Given the description of an element on the screen output the (x, y) to click on. 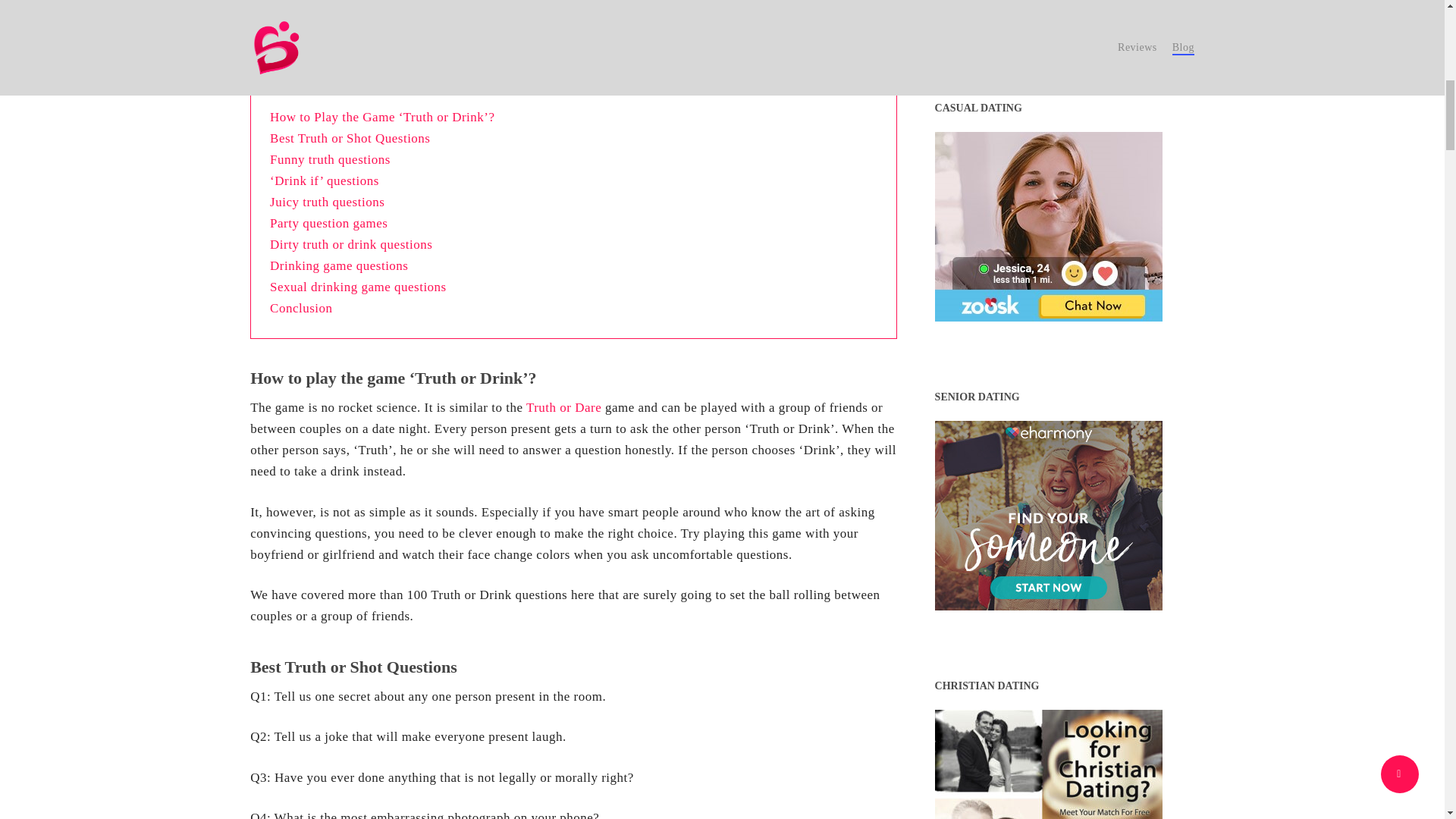
Juicy truth questions (326, 201)
Funny truth questions (329, 159)
Sexual drinking game questions (357, 287)
CHRISTIAN DATING (1047, 764)
CASUAL DATING (1047, 226)
Party question games (328, 223)
SENIOR DATING (1047, 515)
Dirty truth or drink questions (350, 244)
SERIOUS RELATIONSHIP (1047, 16)
Conclusion (300, 308)
Truth or Dare (563, 407)
Drinking game questions (338, 265)
Best Truth or Shot Questions (349, 138)
